Given the description of an element on the screen output the (x, y) to click on. 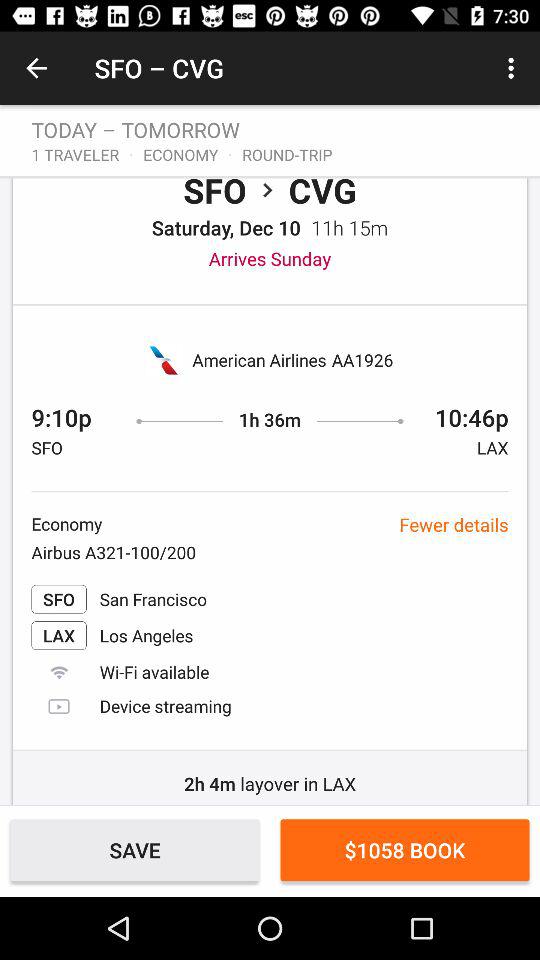
choose $1058 book at the bottom right corner (404, 850)
